Given the description of an element on the screen output the (x, y) to click on. 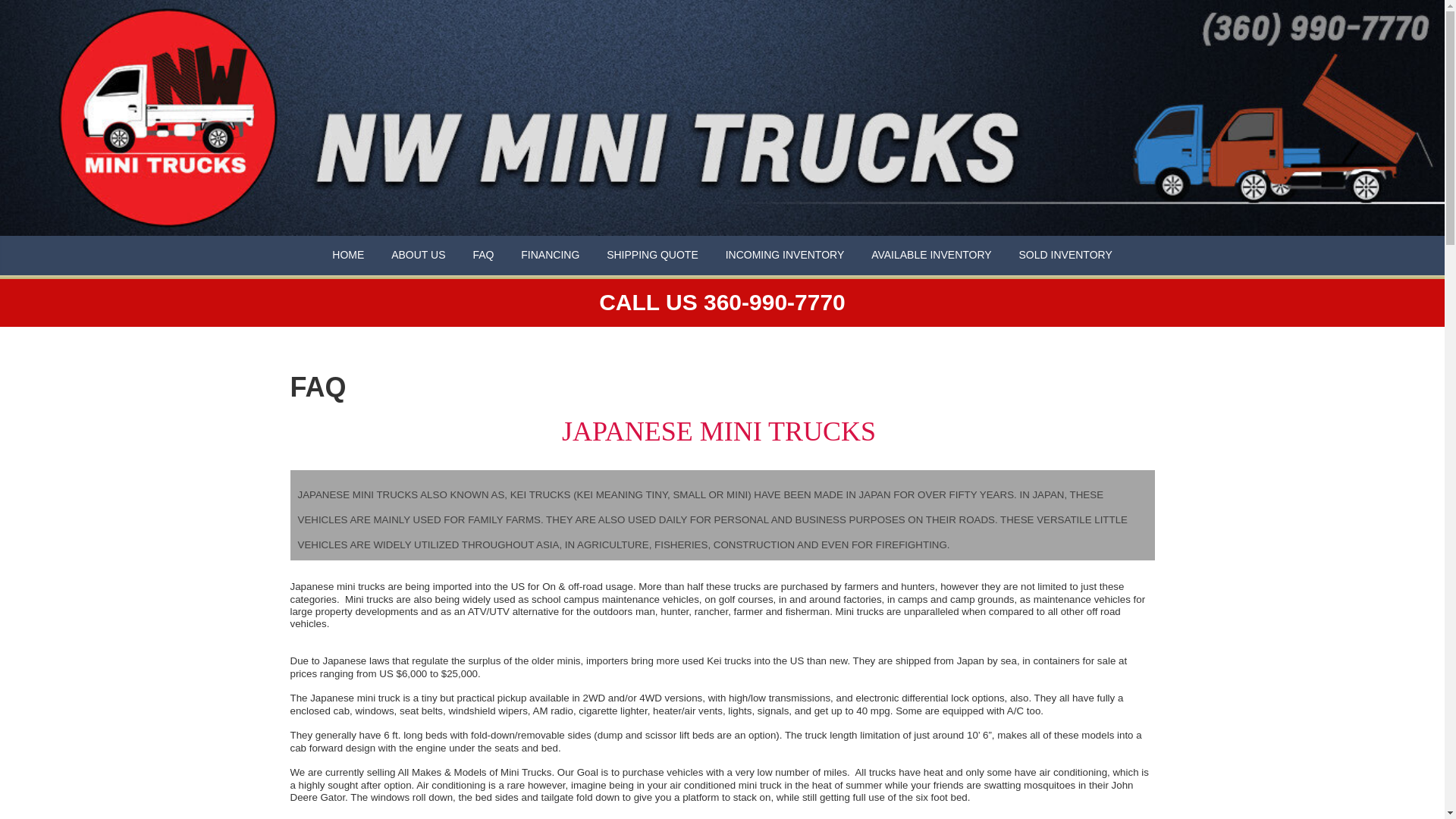
ABOUT US (419, 254)
SHIPPING QUOTE (653, 254)
AVAILABLE INVENTORY (932, 254)
SOLD INVENTORY (1065, 254)
HOME (349, 254)
FINANCING (551, 254)
FAQ (484, 254)
INCOMING INVENTORY (786, 254)
